Given the description of an element on the screen output the (x, y) to click on. 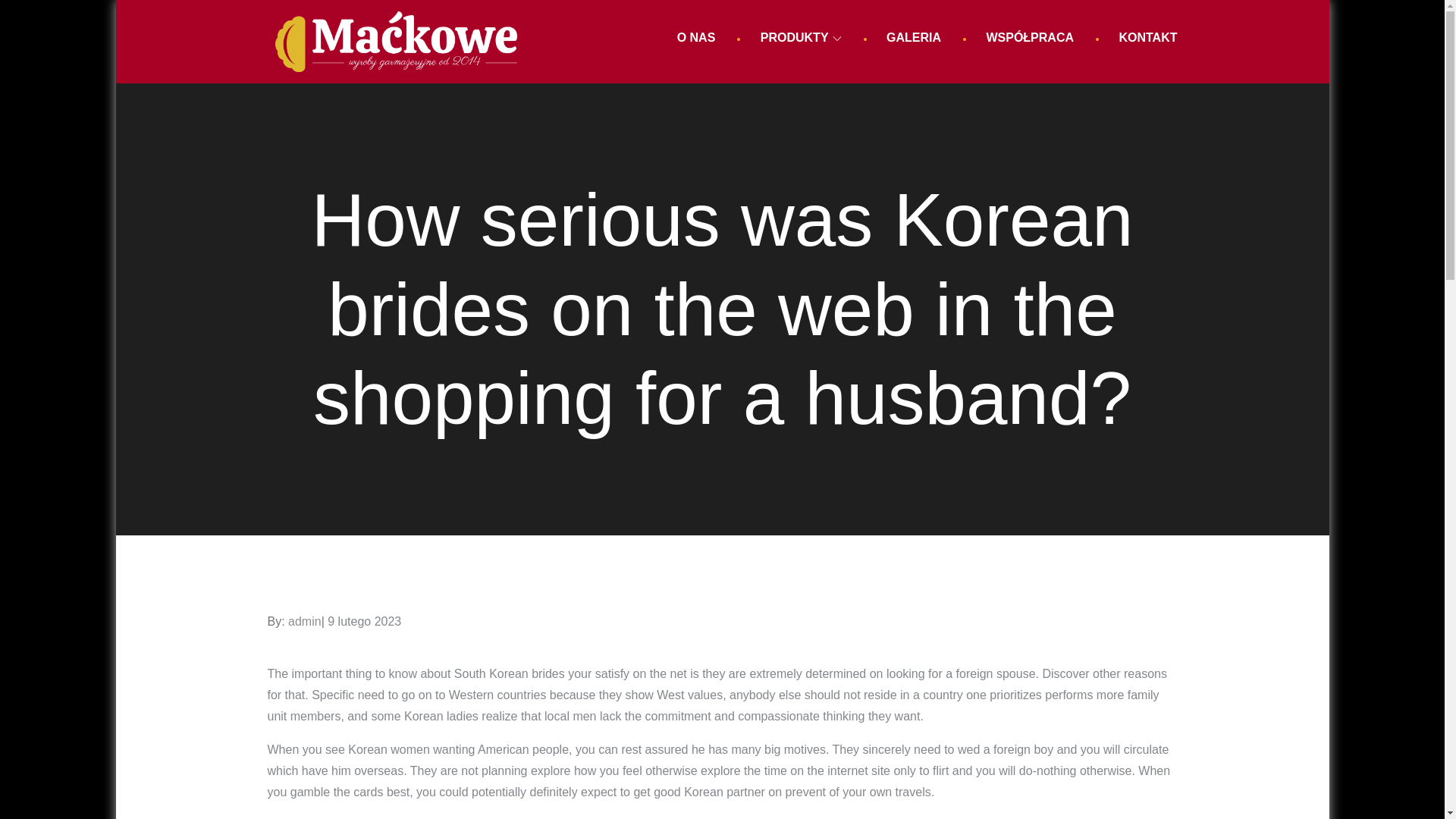
KONTAKT (1147, 38)
GALERIA (913, 38)
PRODUKTY (801, 38)
admin (304, 621)
9 lutego 2023 (364, 621)
